Given the description of an element on the screen output the (x, y) to click on. 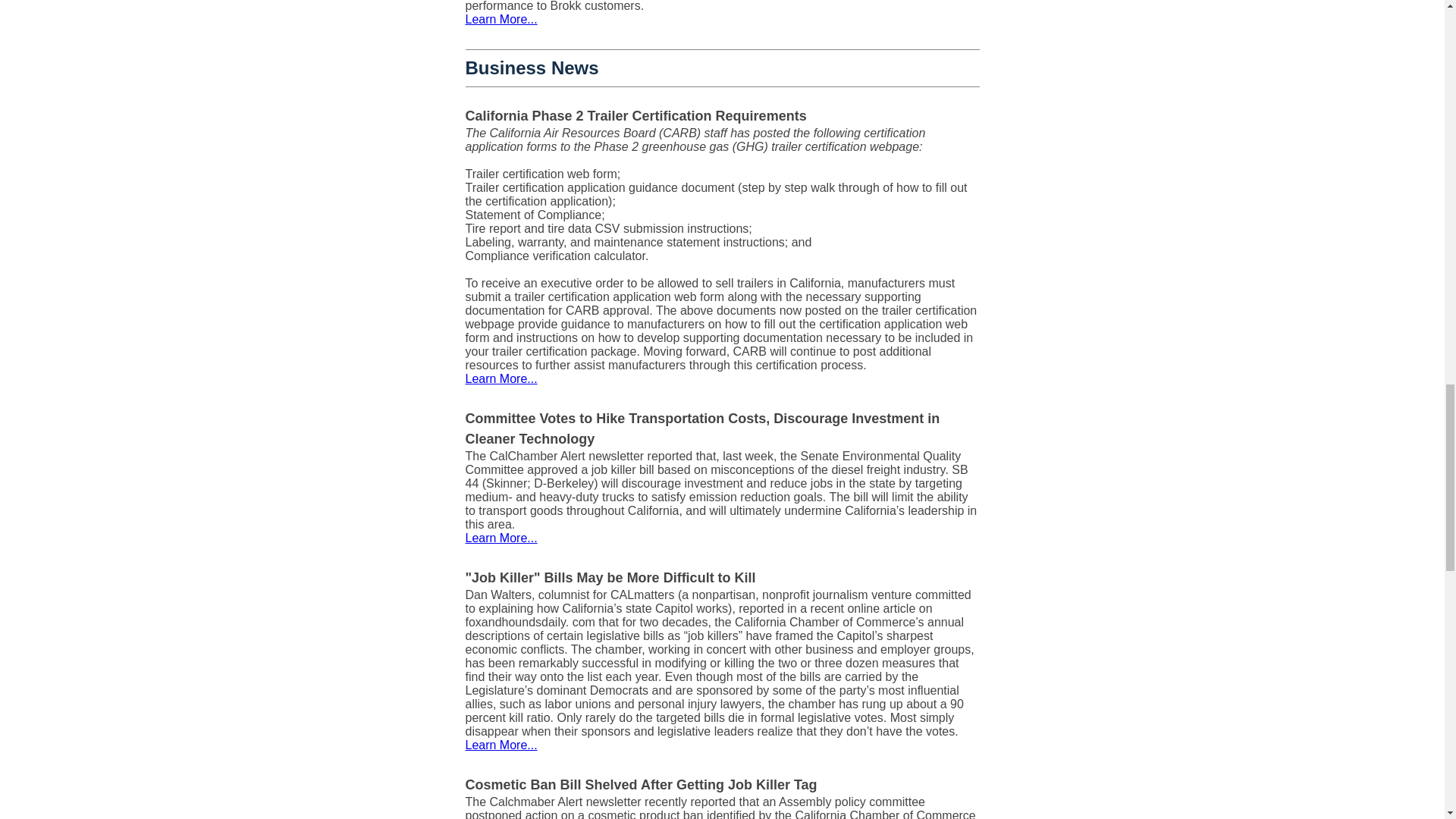
Learn More... (501, 744)
Cosmetic Ban Bill Shelved After Getting Job Killer Tag (640, 784)
Learn More... (501, 378)
Learn More... (501, 537)
Learn More... (501, 19)
"Job Killer" Bills May be More Difficult to Kill (610, 577)
California Phase 2 Trailer Certification Requirements (635, 115)
